Given the description of an element on the screen output the (x, y) to click on. 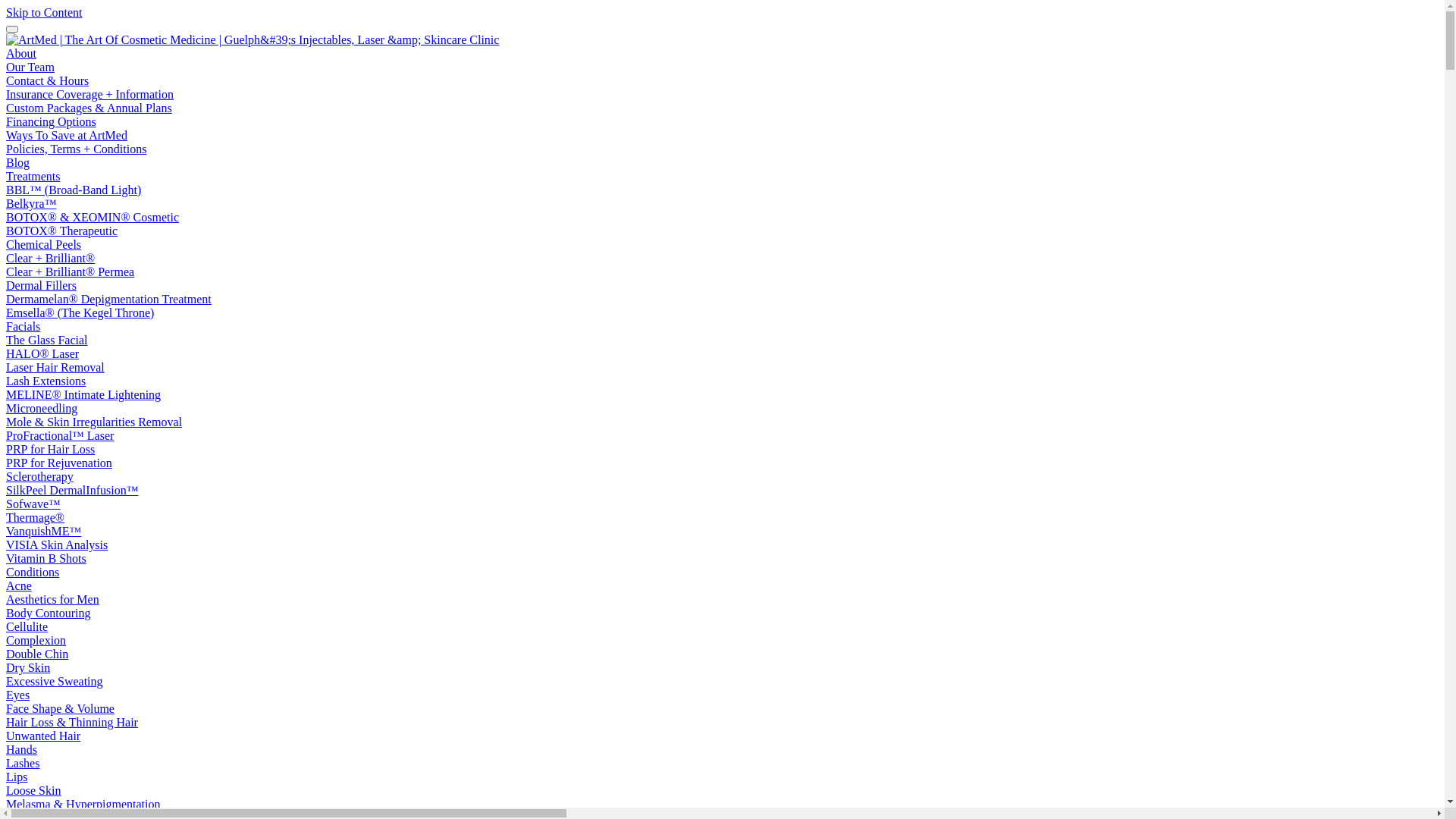
Financing Options Element type: text (51, 121)
Cellulite Element type: text (26, 626)
Lash Extensions Element type: text (45, 380)
Loose Skin Element type: text (33, 790)
VISIA Skin Analysis Element type: text (56, 544)
Complexion Element type: text (35, 639)
Sclerotherapy Element type: text (39, 476)
Our Team Element type: text (30, 66)
Mole & Skin Irregularities Removal Element type: text (94, 421)
Blog Element type: text (17, 162)
Policies, Terms + Conditions Element type: text (76, 148)
Microneedling Element type: text (41, 407)
The Glass Facial Element type: text (46, 339)
Contact & Hours Element type: text (47, 80)
Vitamin B Shots Element type: text (46, 558)
PRP for Rejuvenation Element type: text (59, 462)
Dry Skin Element type: text (28, 667)
Laser Hair Removal Element type: text (55, 366)
Conditions Element type: text (32, 571)
Double Chin Element type: text (37, 653)
Dermal Fillers Element type: text (41, 285)
About Element type: text (21, 53)
Lips Element type: text (16, 776)
Body Contouring Element type: text (48, 612)
Unwanted Hair Element type: text (43, 735)
Eyes Element type: text (17, 694)
Face Shape & Volume Element type: text (60, 708)
Insurance Coverage + Information Element type: text (89, 93)
Lashes Element type: text (22, 762)
Facials Element type: text (23, 326)
Melasma & Hyperpigmentation Element type: text (83, 803)
Ways To Save at ArtMed Element type: text (66, 134)
Skip to Content Element type: text (43, 12)
Chemical Peels Element type: text (43, 244)
Acne Element type: text (18, 585)
Excessive Sweating Element type: text (54, 680)
Hair Loss & Thinning Hair Element type: text (72, 721)
Treatments Element type: text (32, 175)
Hands Element type: text (21, 749)
PRP for Hair Loss Element type: text (50, 448)
Custom Packages & Annual Plans Element type: text (89, 107)
Aesthetics for Men Element type: text (52, 599)
